Given the description of an element on the screen output the (x, y) to click on. 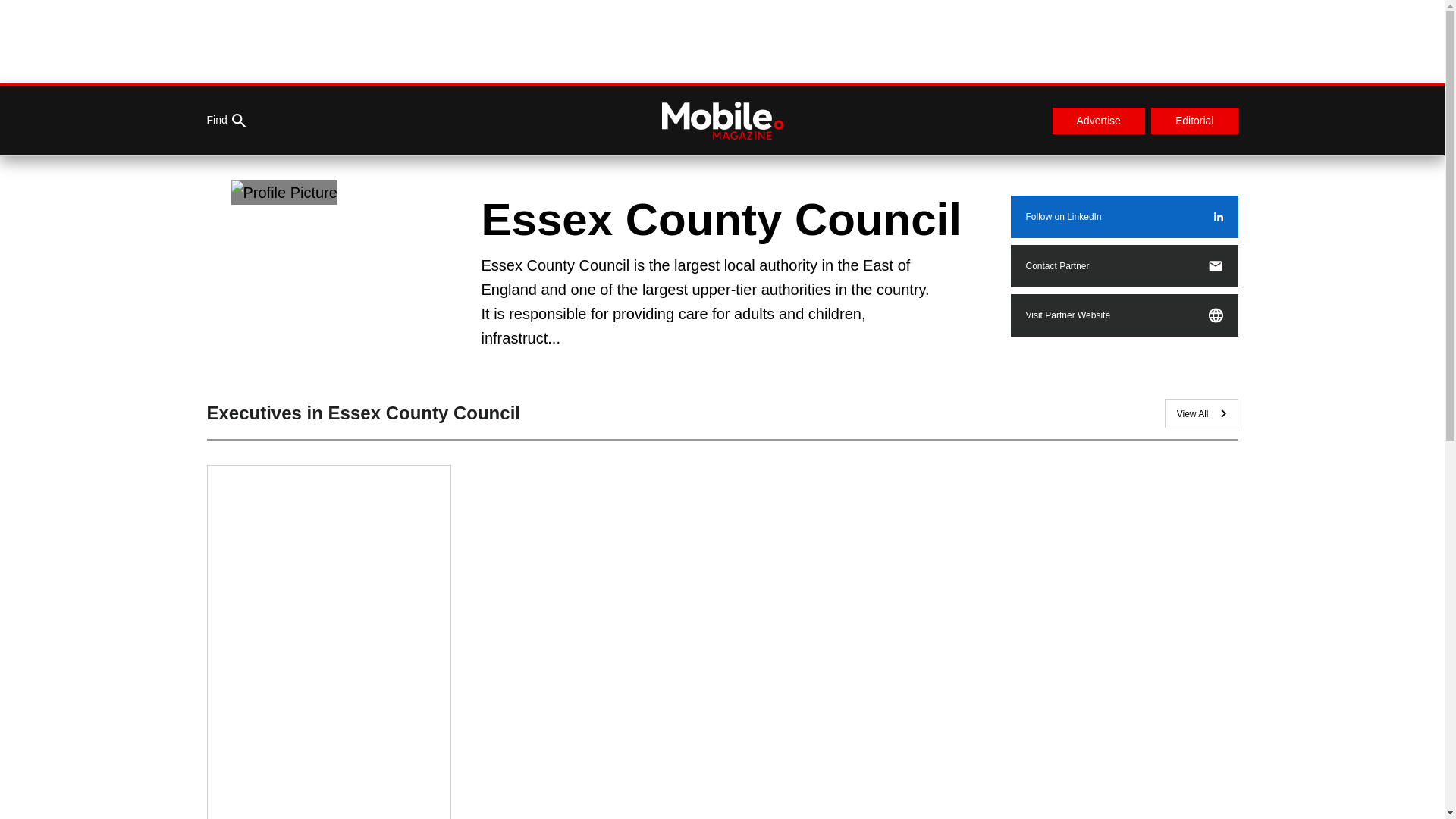
Visit Partner Website (1123, 315)
Find (225, 120)
Contact Partner (1123, 265)
Editorial (1195, 121)
View All (1201, 413)
Advertise (1098, 121)
Follow on LinkedIn (1123, 216)
